Given the description of an element on the screen output the (x, y) to click on. 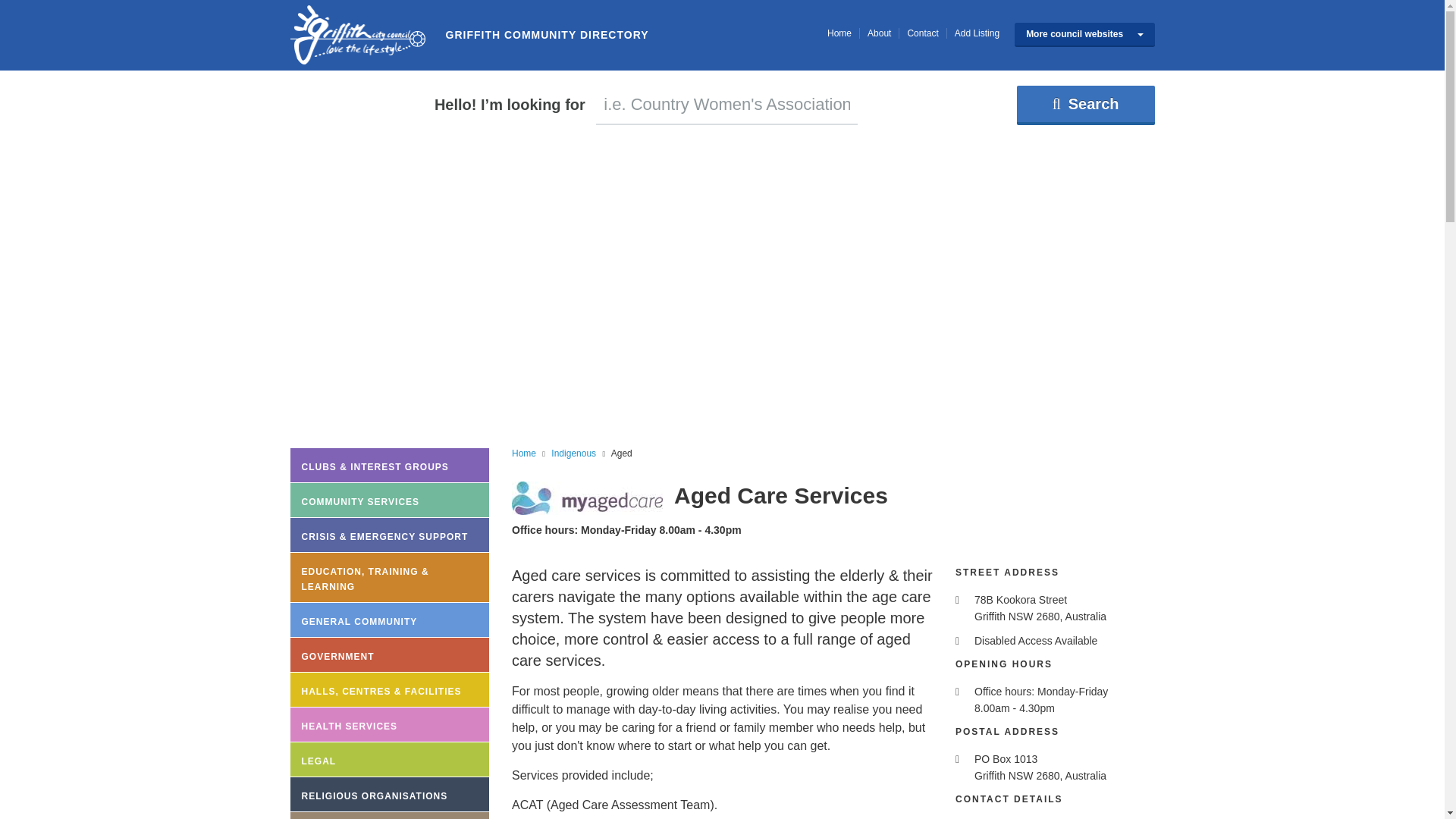
opening hours (960, 692)
Home (839, 32)
Disabled Access (960, 641)
Contact (922, 32)
About (879, 32)
Add Listing (976, 32)
GRIFFITH COMMUNITY DIRECTORY (357, 34)
Search (1085, 105)
More council websites (1084, 34)
